Given the description of an element on the screen output the (x, y) to click on. 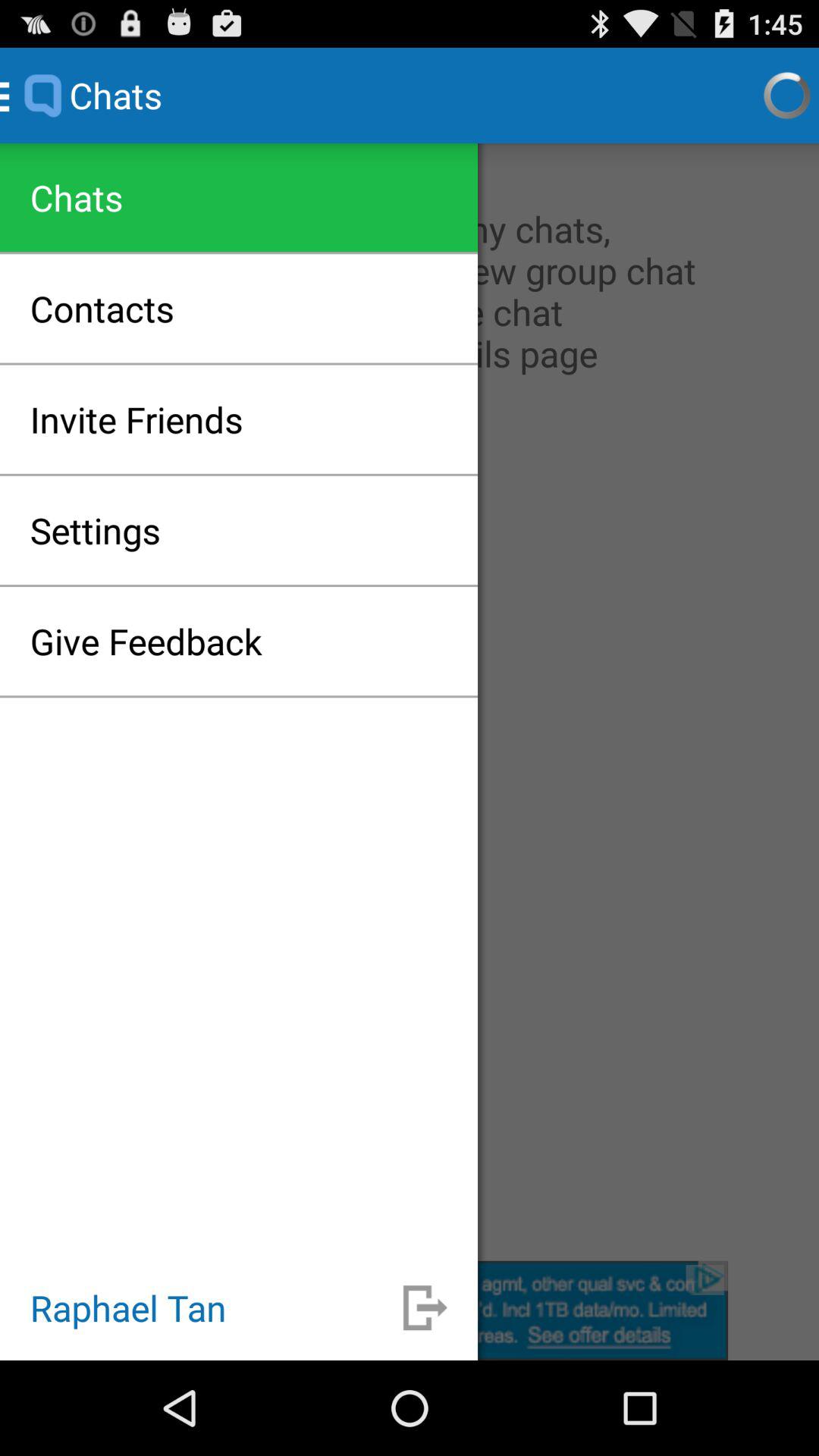
go back (425, 1307)
